Given the description of an element on the screen output the (x, y) to click on. 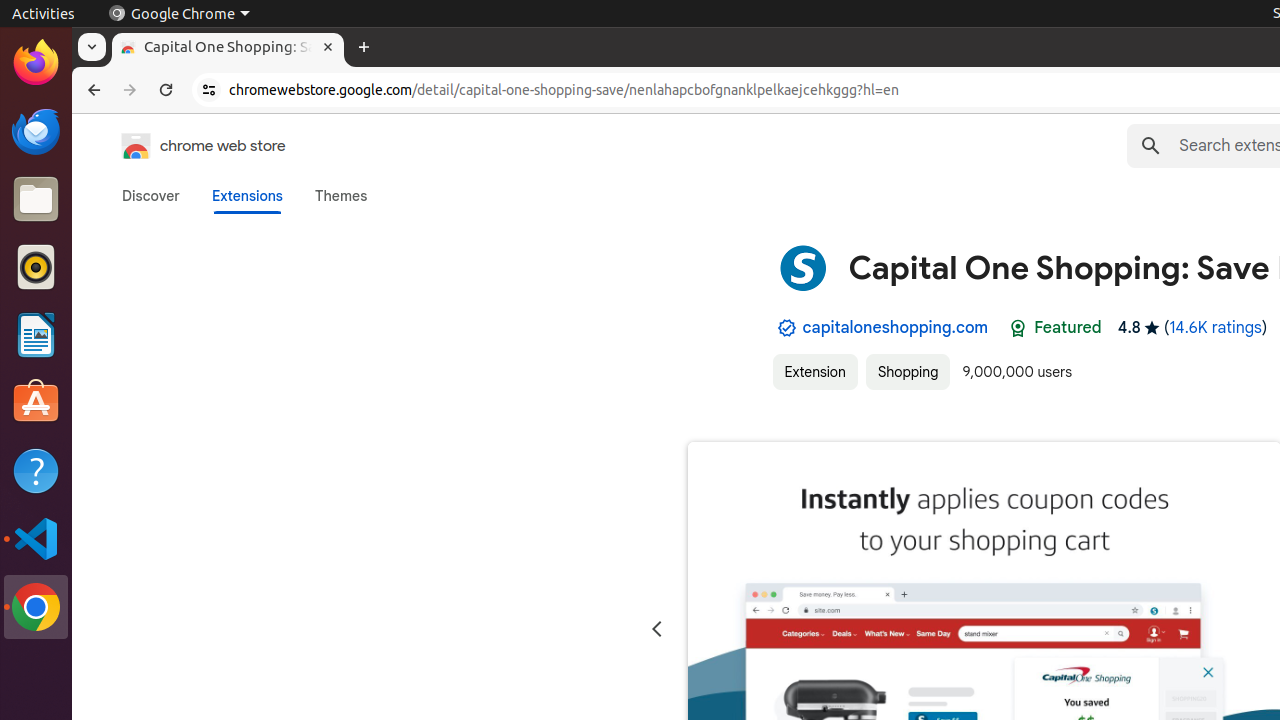
Google Chrome Element type: menu (179, 13)
Reload Element type: push-button (166, 90)
Thunderbird Mail Element type: push-button (36, 131)
LibreOffice Writer Element type: push-button (36, 334)
Extension Element type: link (815, 372)
